Given the description of an element on the screen output the (x, y) to click on. 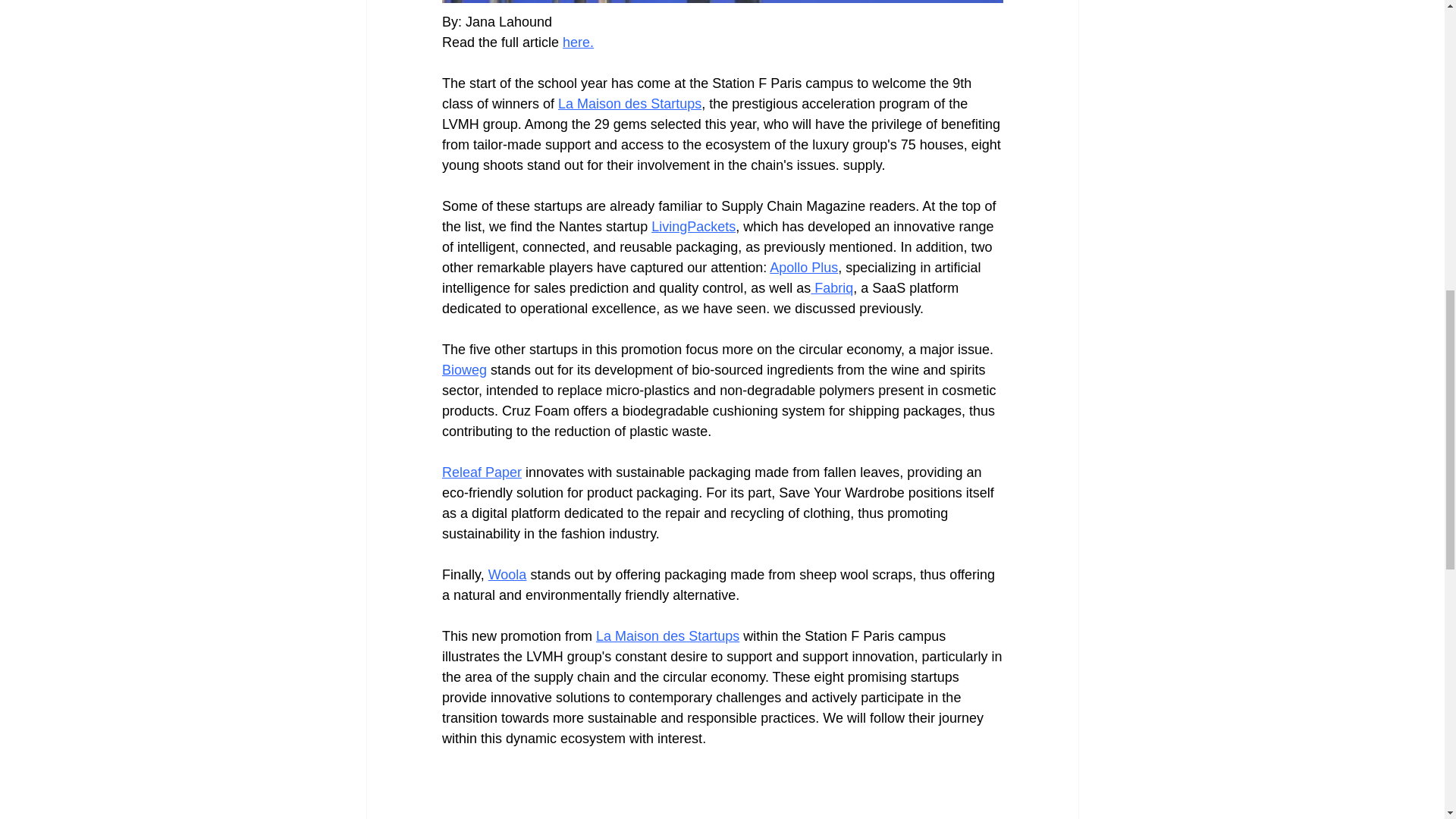
Apollo Plus (804, 267)
Woola (506, 574)
 Fabriq (831, 287)
Bioweg (463, 369)
LivingPackets (692, 226)
here. (578, 42)
La Maison des Startups (629, 103)
La Maison des Startups (667, 635)
Releaf Paper (481, 472)
